Given the description of an element on the screen output the (x, y) to click on. 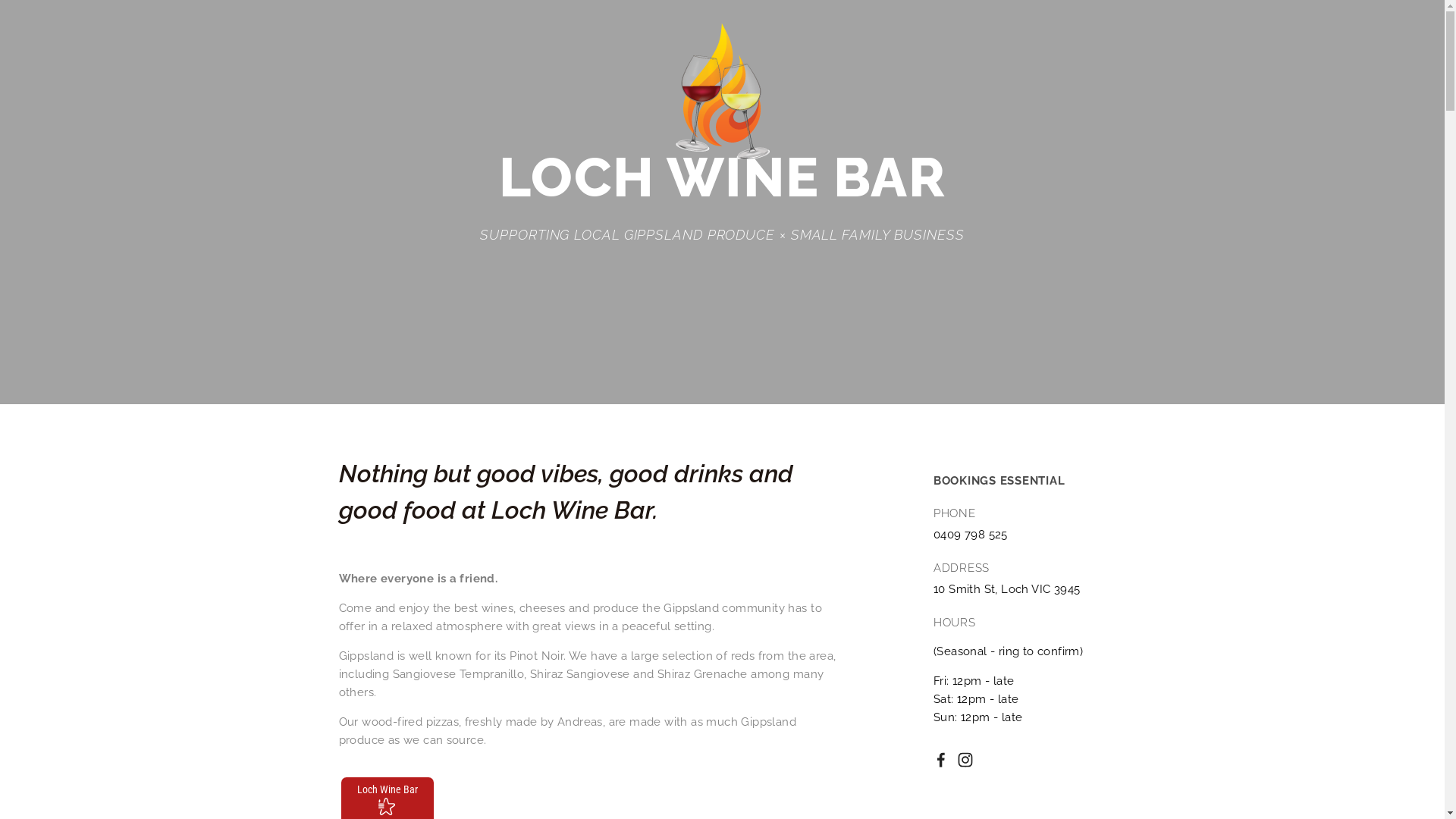
Loch Wine Bar Element type: text (386, 789)
10 Smith St, Loch VIC 3945 Element type: text (1006, 589)
0409 798 525 Element type: text (970, 534)
